Given the description of an element on the screen output the (x, y) to click on. 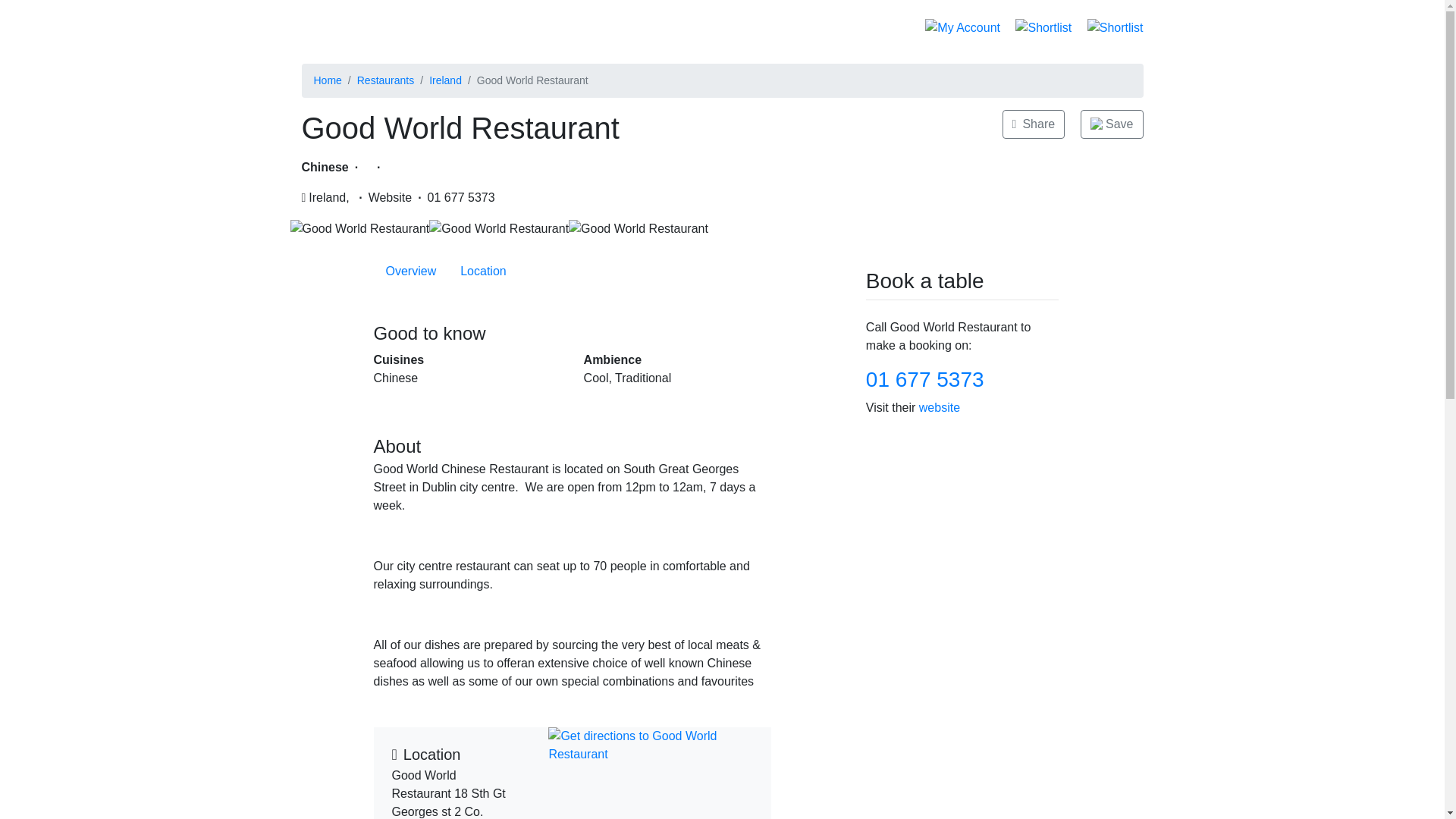
Ireland (445, 80)
Overview (571, 271)
Ireland, (410, 271)
Restaurants (325, 198)
Sign In (384, 80)
SquareMeal (893, 27)
Location (342, 27)
Join (483, 271)
website (845, 27)
